Given the description of an element on the screen output the (x, y) to click on. 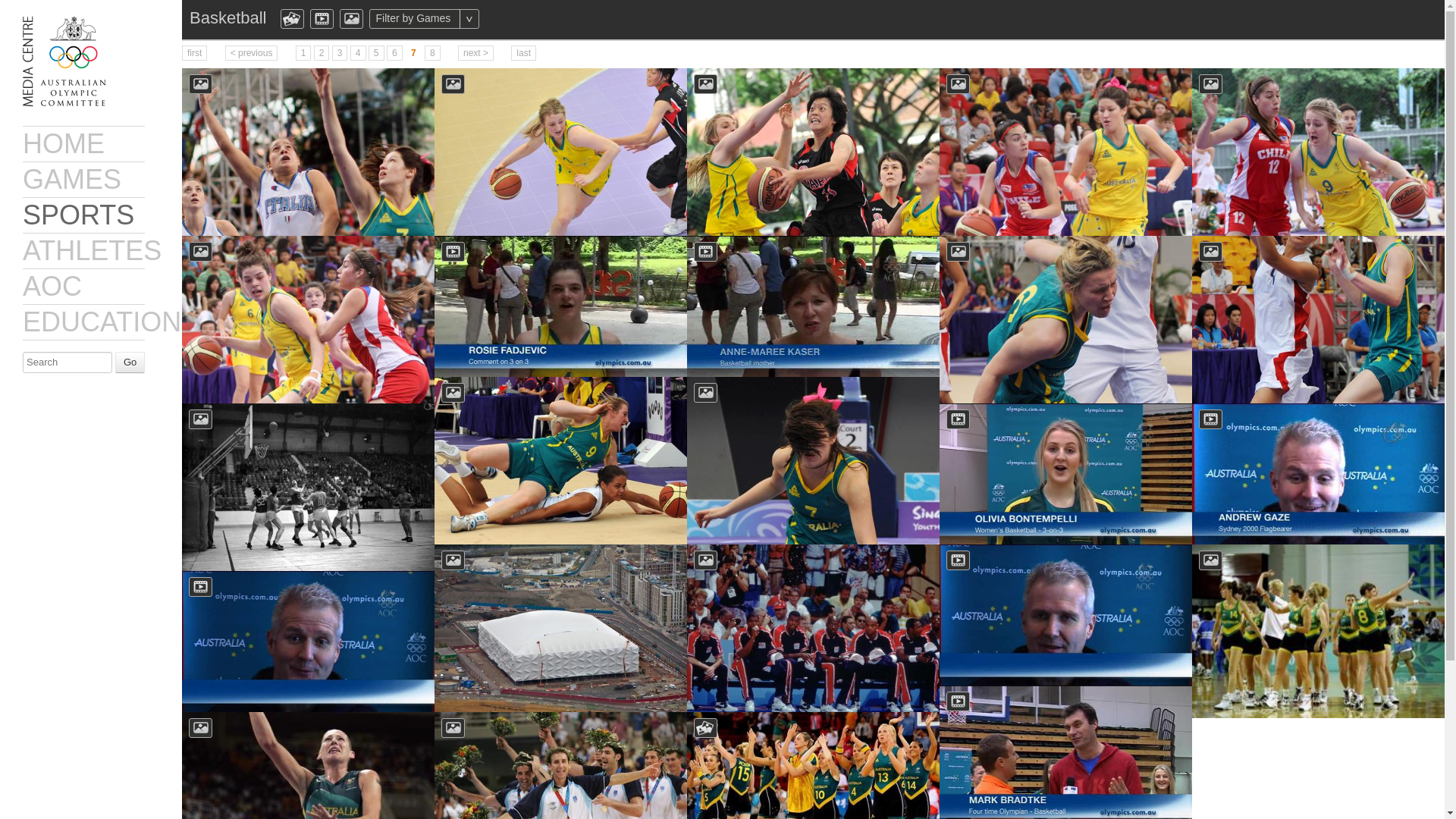
1 (303, 52)
first (194, 52)
ATHLETES (92, 250)
Images (350, 18)
All (498, 18)
EDUCATION (101, 321)
SPORTS (78, 214)
aocImage (350, 18)
Go (129, 362)
GAMES (71, 178)
